Given the description of an element on the screen output the (x, y) to click on. 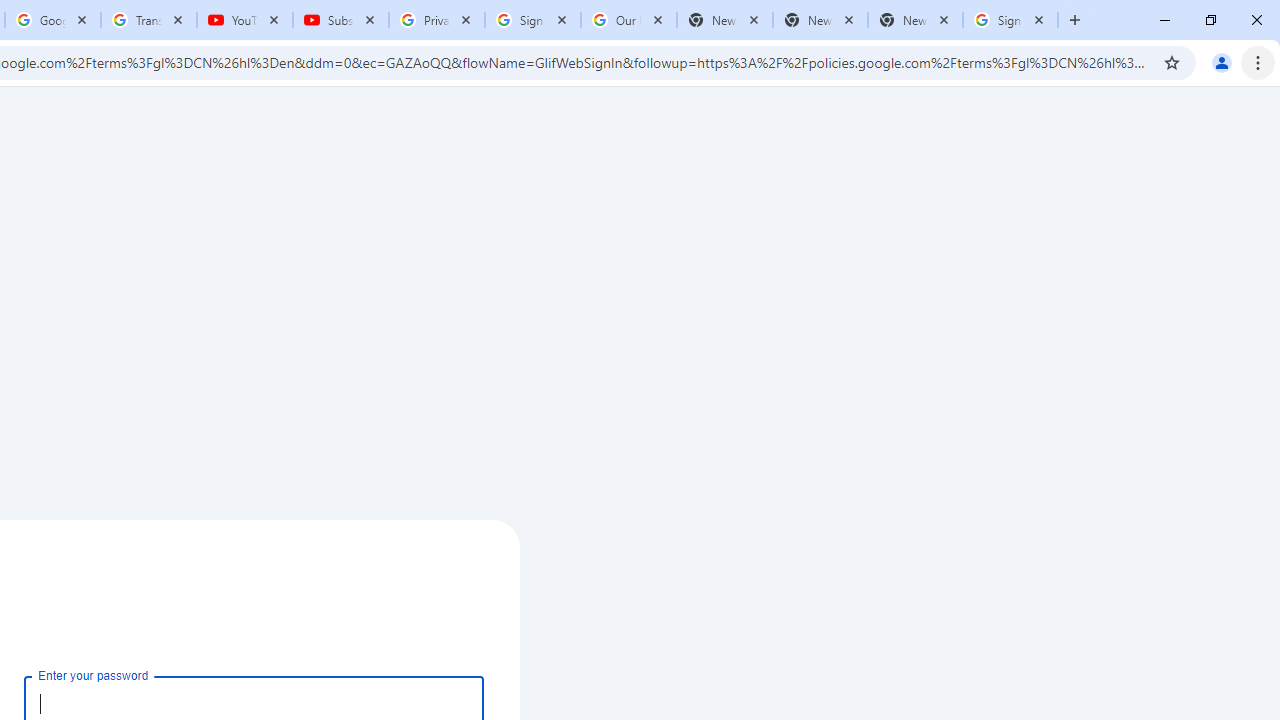
New Tab (914, 20)
Sign in - Google Accounts (533, 20)
YouTube (245, 20)
Sign in - Google Accounts (1010, 20)
Subscriptions - YouTube (341, 20)
